Given the description of an element on the screen output the (x, y) to click on. 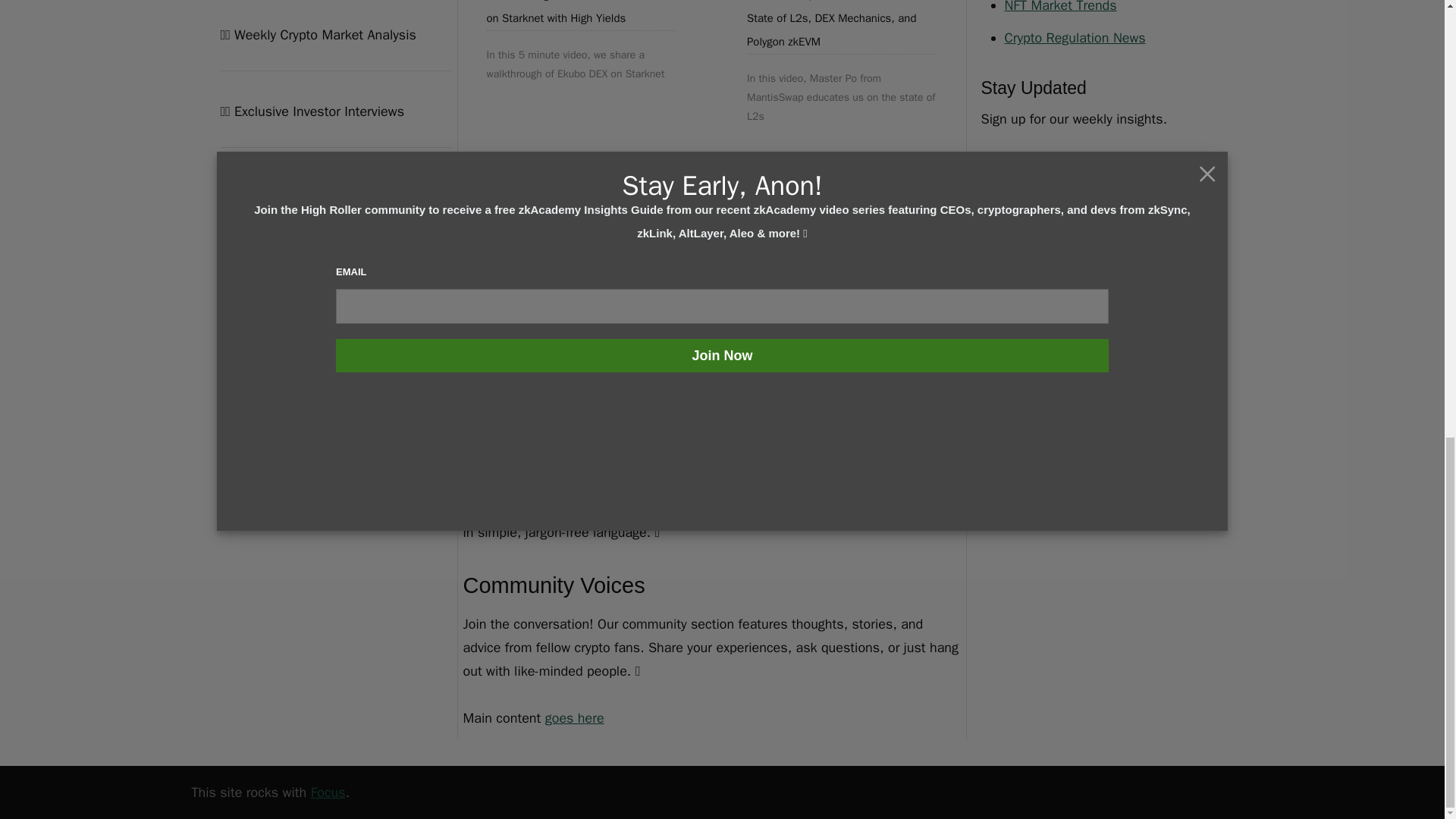
Subscribe (1020, 198)
NFT Market Trends (1060, 6)
goes here (574, 718)
Focus (328, 791)
Crypto Regulation News (1074, 37)
